Given the description of an element on the screen output the (x, y) to click on. 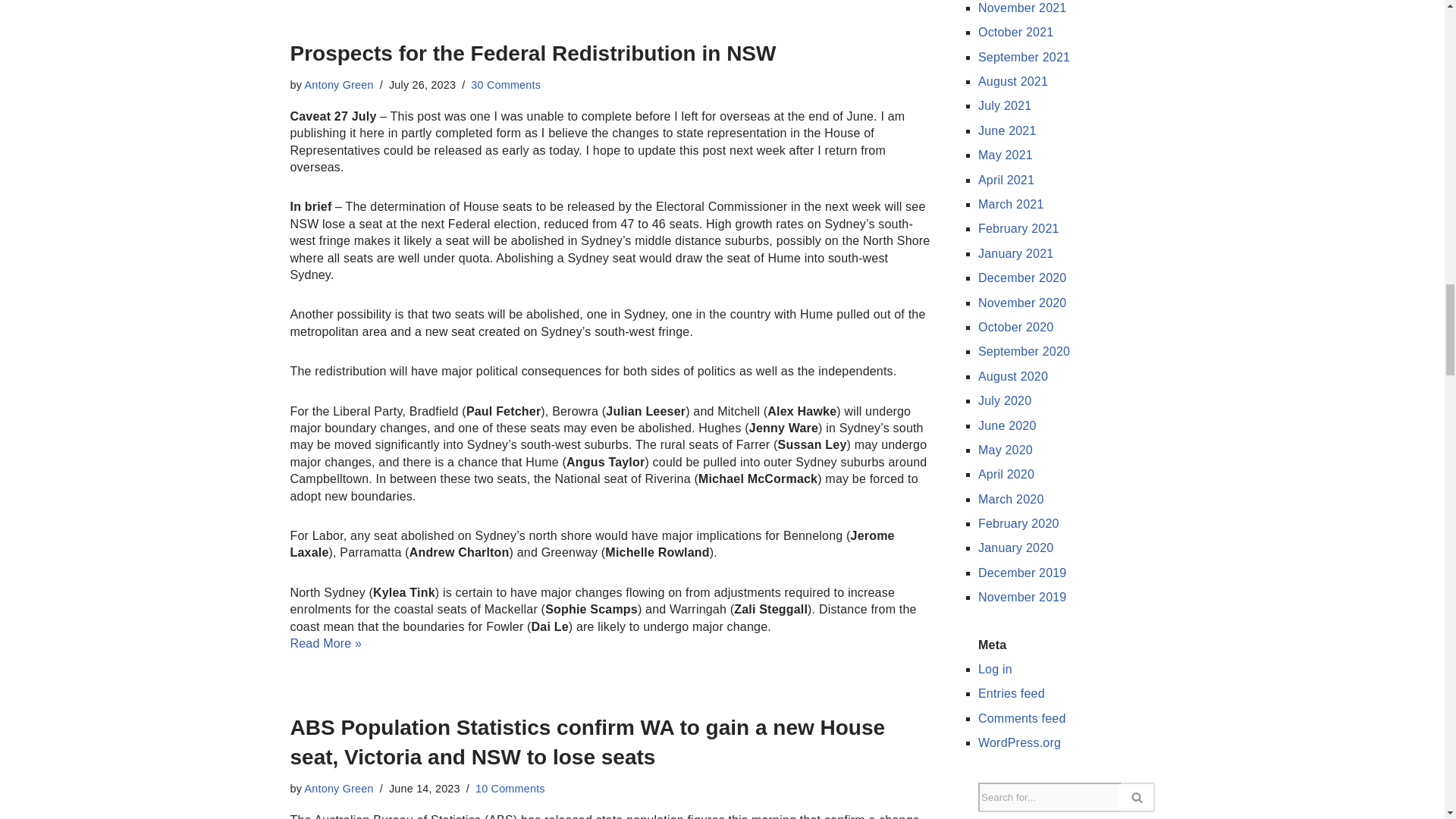
Prospects for the Federal Redistribution in NSW (532, 53)
Posts by Antony Green (339, 788)
Posts by Antony Green (339, 84)
Antony Green (339, 84)
30 Comments (505, 84)
